Given the description of an element on the screen output the (x, y) to click on. 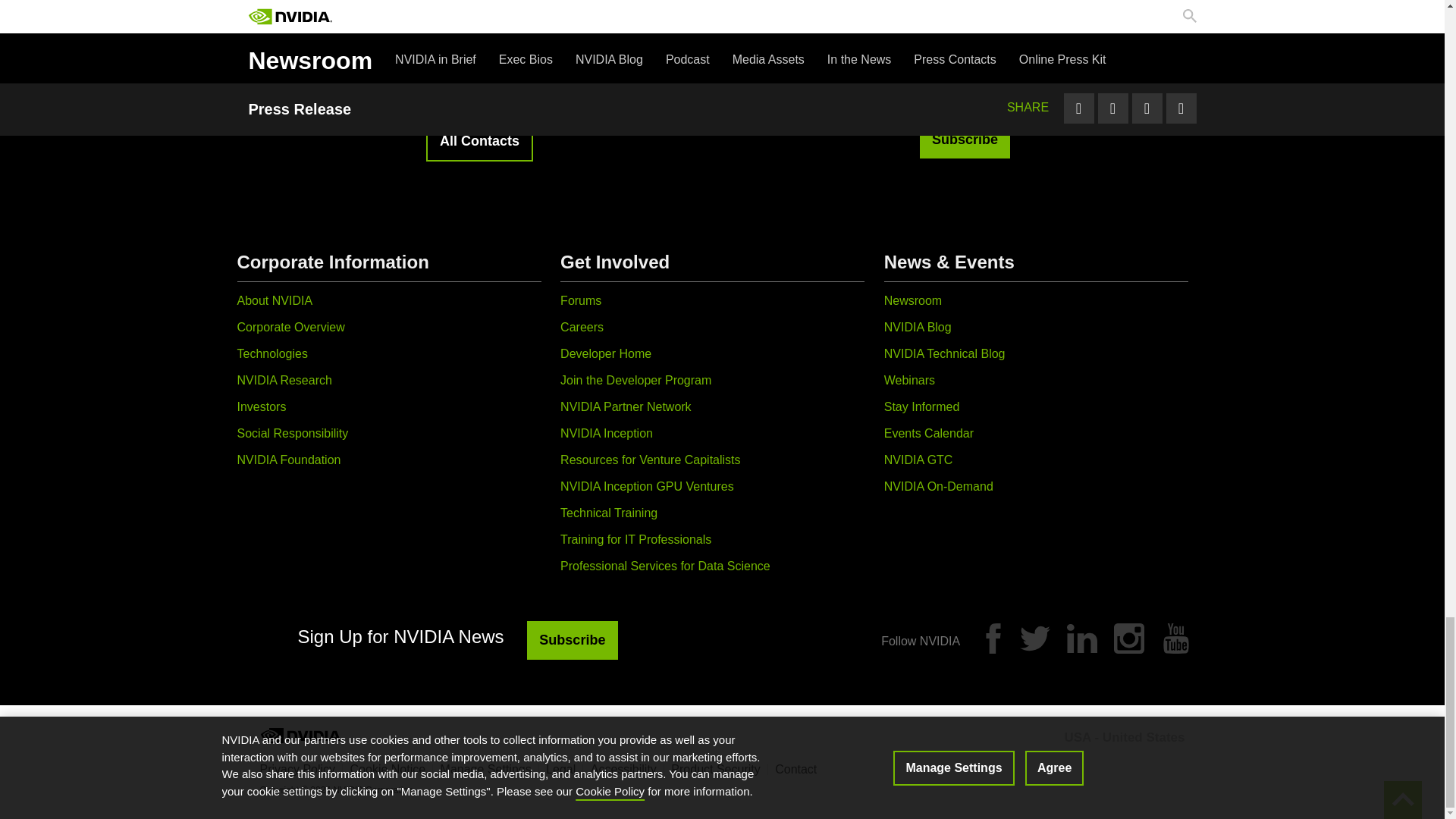
Facebook (993, 638)
YouTube (1175, 638)
Twitter (1034, 638)
Instagram (1128, 638)
LinkedIn (1082, 638)
